Given the description of an element on the screen output the (x, y) to click on. 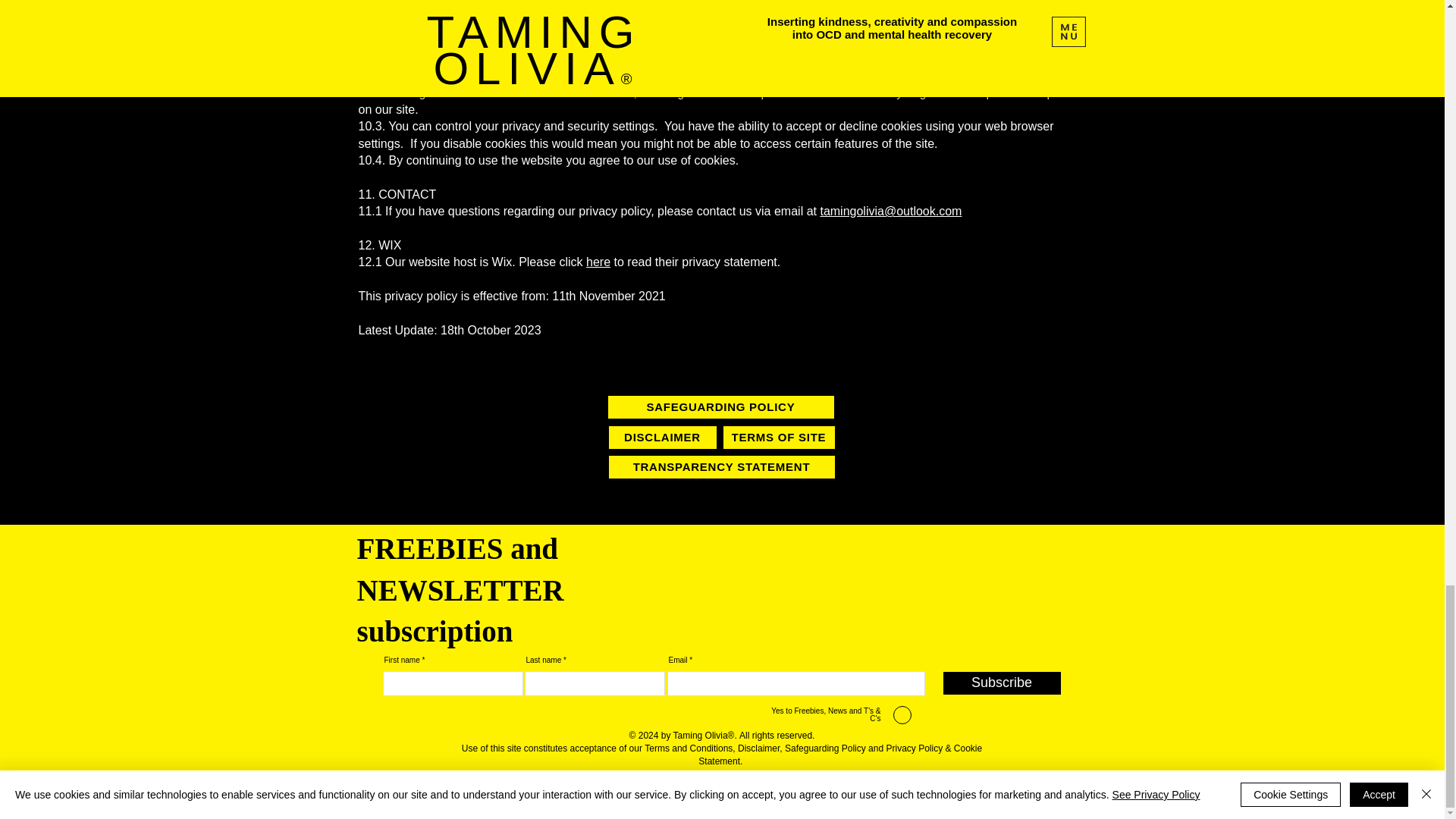
TRANSPARENCY STATEMENT (721, 466)
 Terms and Conditions (687, 747)
SAFEGUARDING POLICY (721, 406)
DISCLAIMER (662, 436)
here (598, 261)
Transparency Statement  (819, 774)
TERMS OF SITE (778, 436)
Safeguarding Policy (825, 747)
Disclaimer (758, 747)
Subscribe (1002, 682)
